Given the description of an element on the screen output the (x, y) to click on. 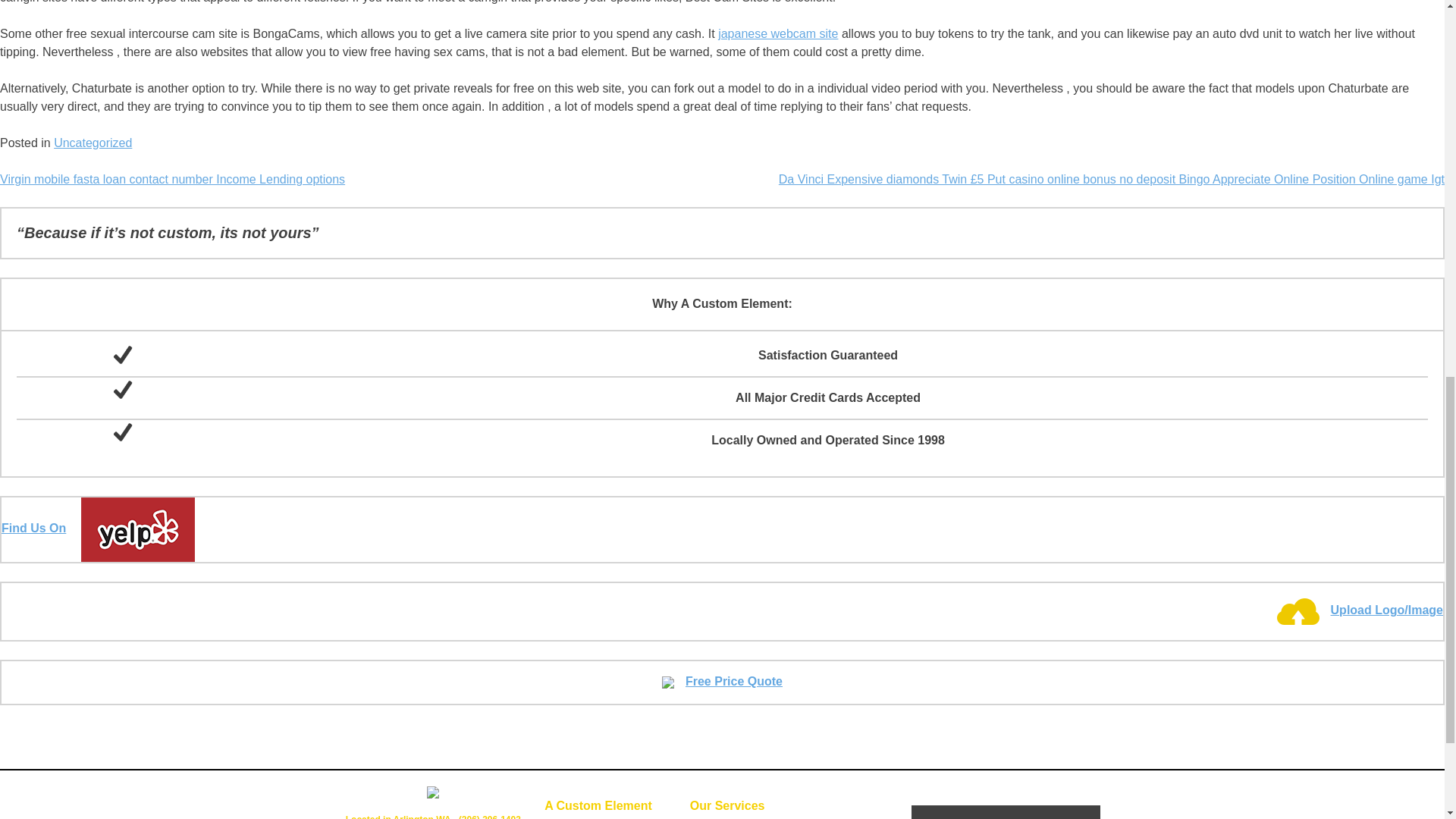
Free Price Quote (722, 680)
Find Us On (98, 527)
japanese webcam site (777, 33)
Uncategorized (92, 142)
